Given the description of an element on the screen output the (x, y) to click on. 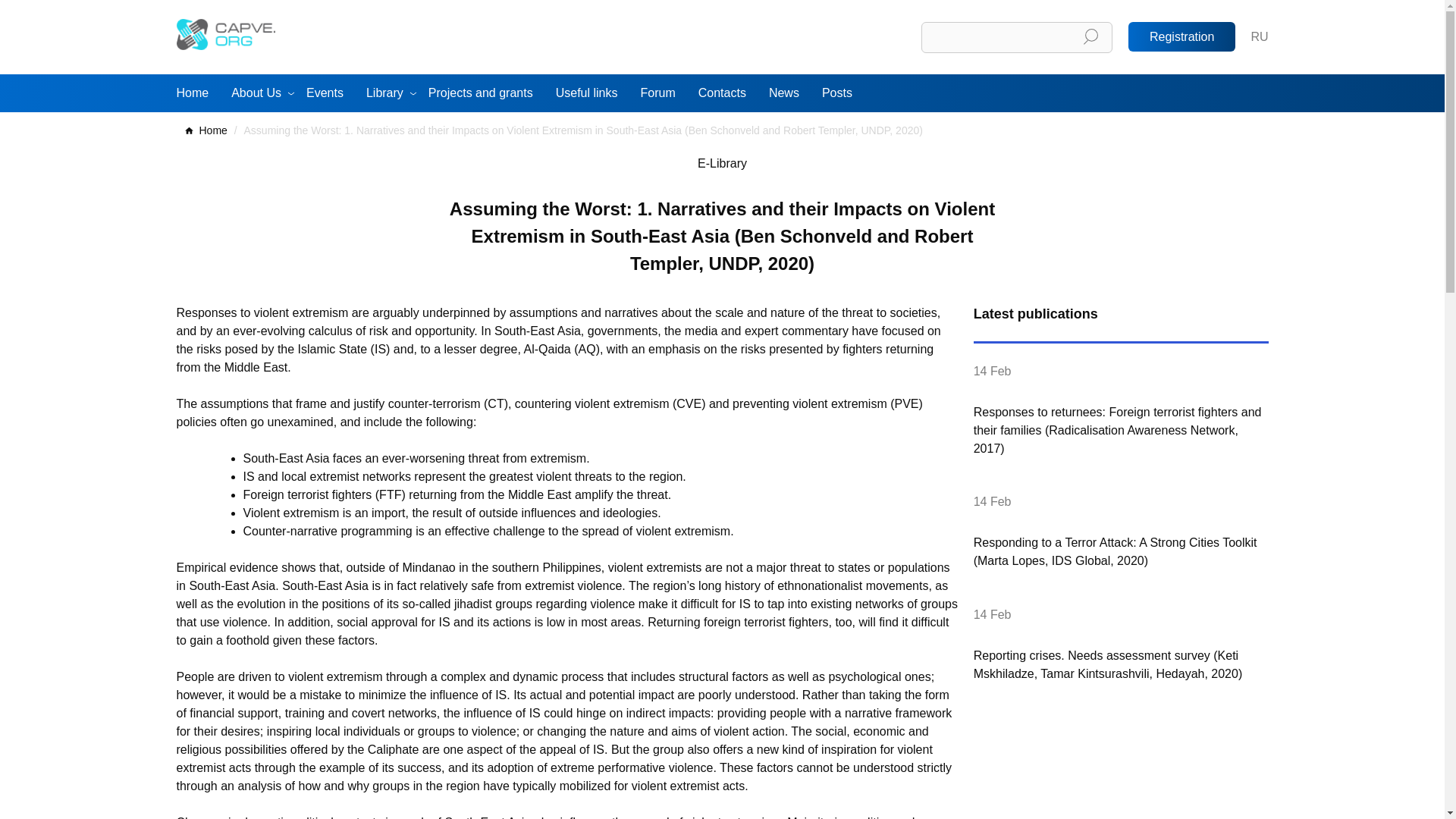
Events (330, 93)
Contacts (727, 93)
About Us (261, 93)
Projects and grants (486, 93)
Registration (1181, 36)
Useful links (592, 93)
Forum (662, 93)
Library (390, 93)
RU (1259, 36)
Home (197, 93)
